Given the description of an element on the screen output the (x, y) to click on. 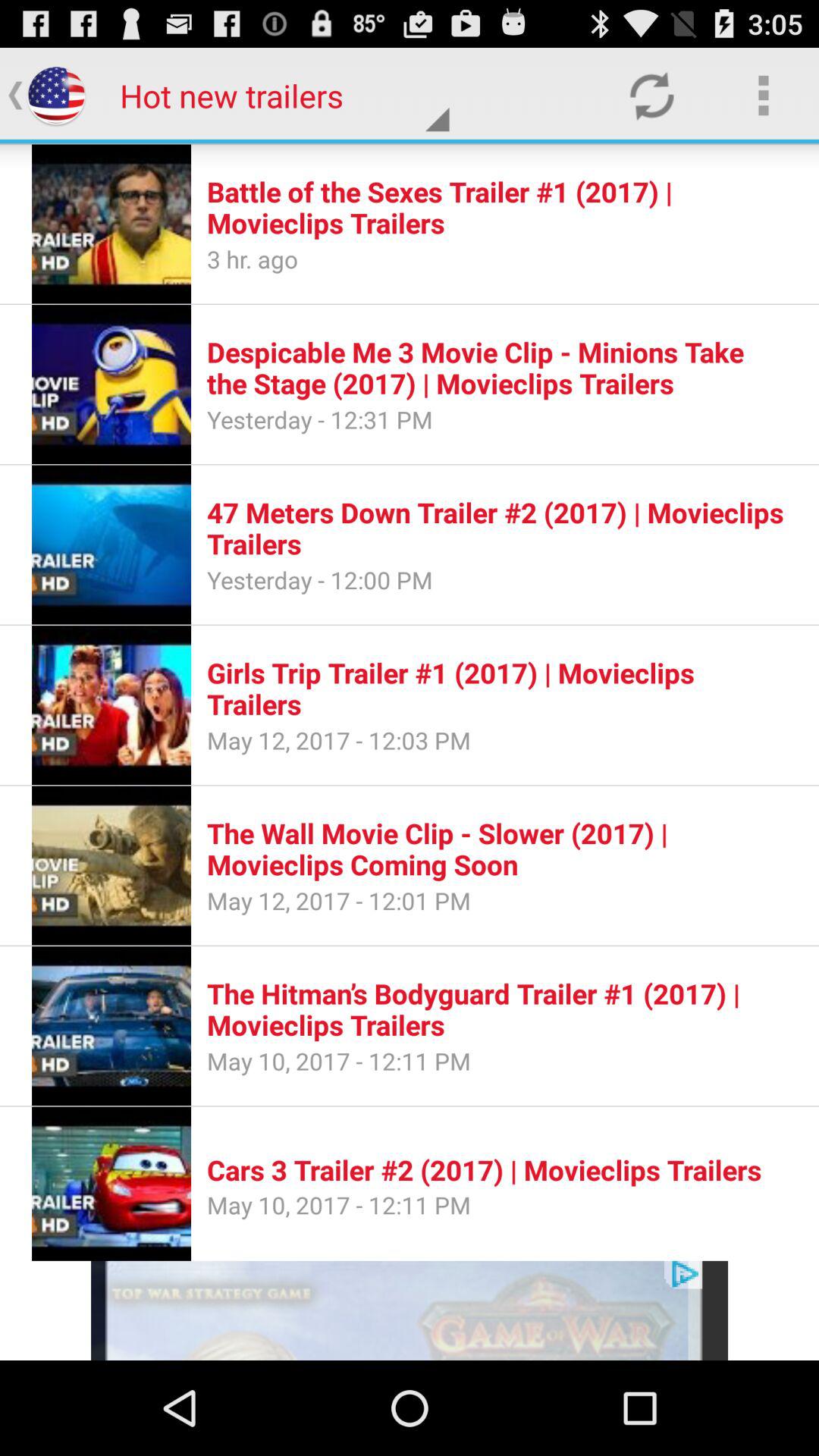
advertise an app (409, 1310)
